Given the description of an element on the screen output the (x, y) to click on. 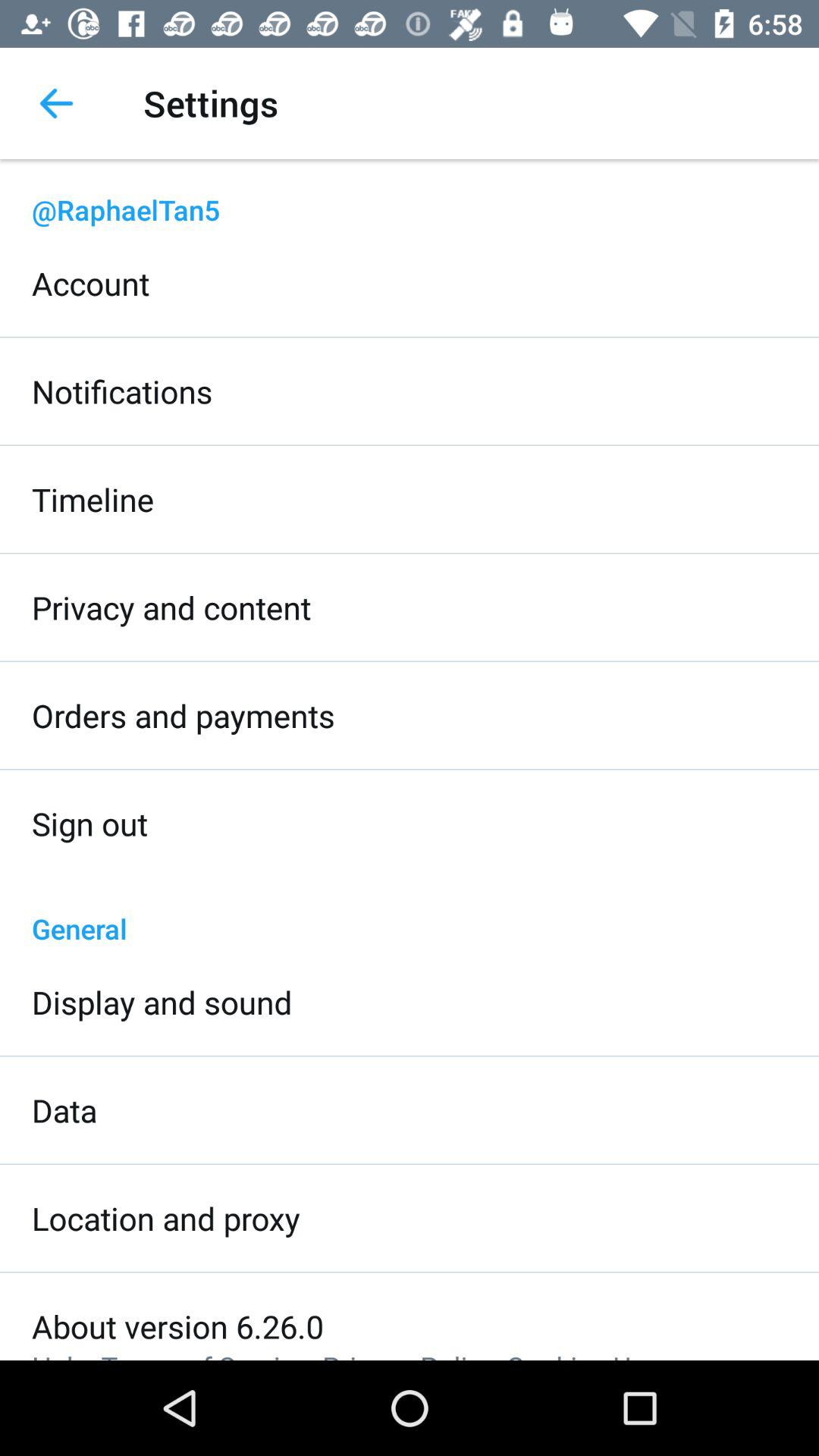
launch the timeline (92, 498)
